Given the description of an element on the screen output the (x, y) to click on. 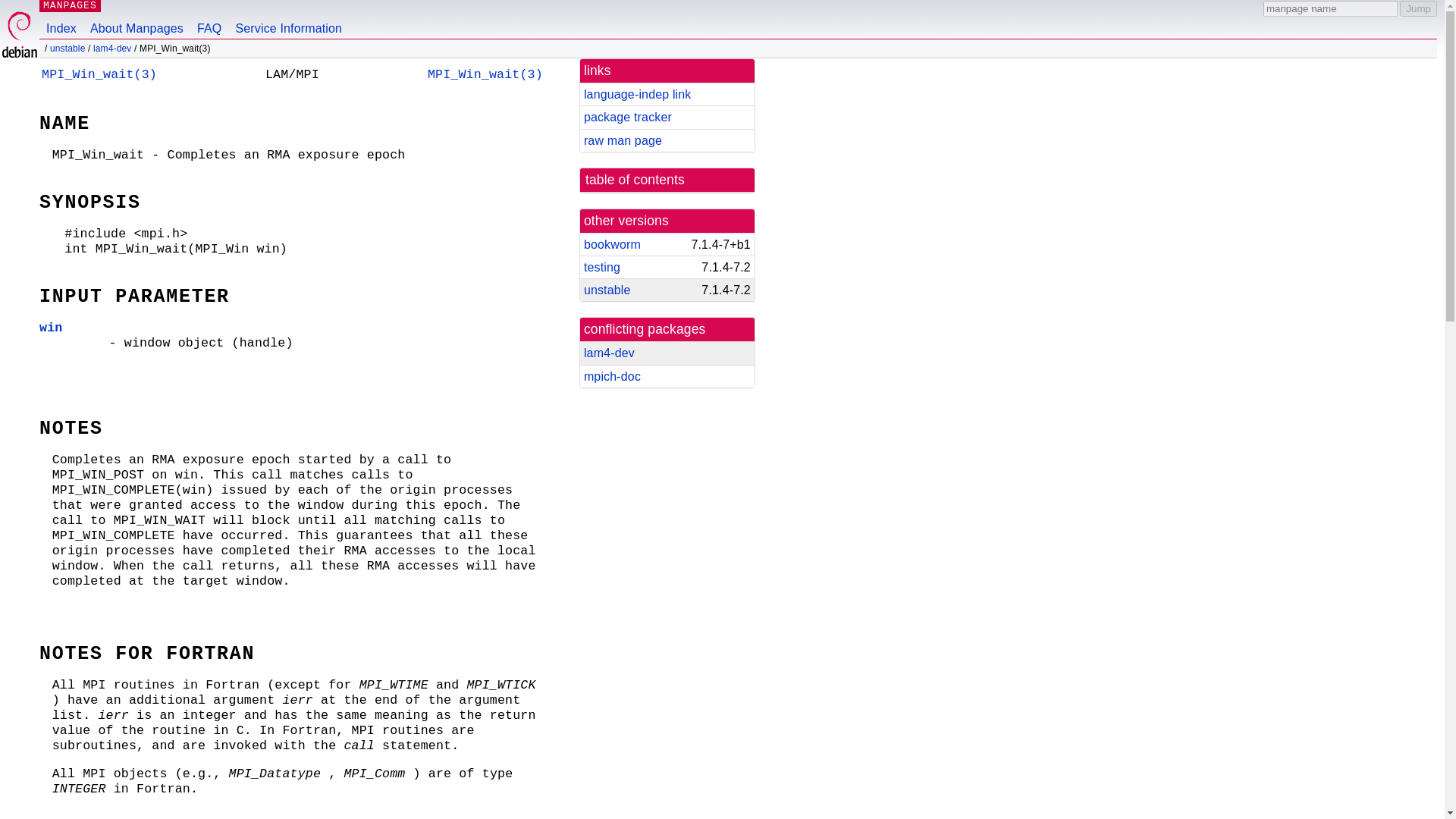
FAQ (209, 19)
About Manpages (136, 19)
lam4-dev (112, 48)
raw man page (622, 140)
Jump (1418, 8)
mpich-doc (611, 376)
bookworm (611, 244)
language-indep link (637, 93)
Service Information (288, 19)
Jump (1418, 8)
